Given the description of an element on the screen output the (x, y) to click on. 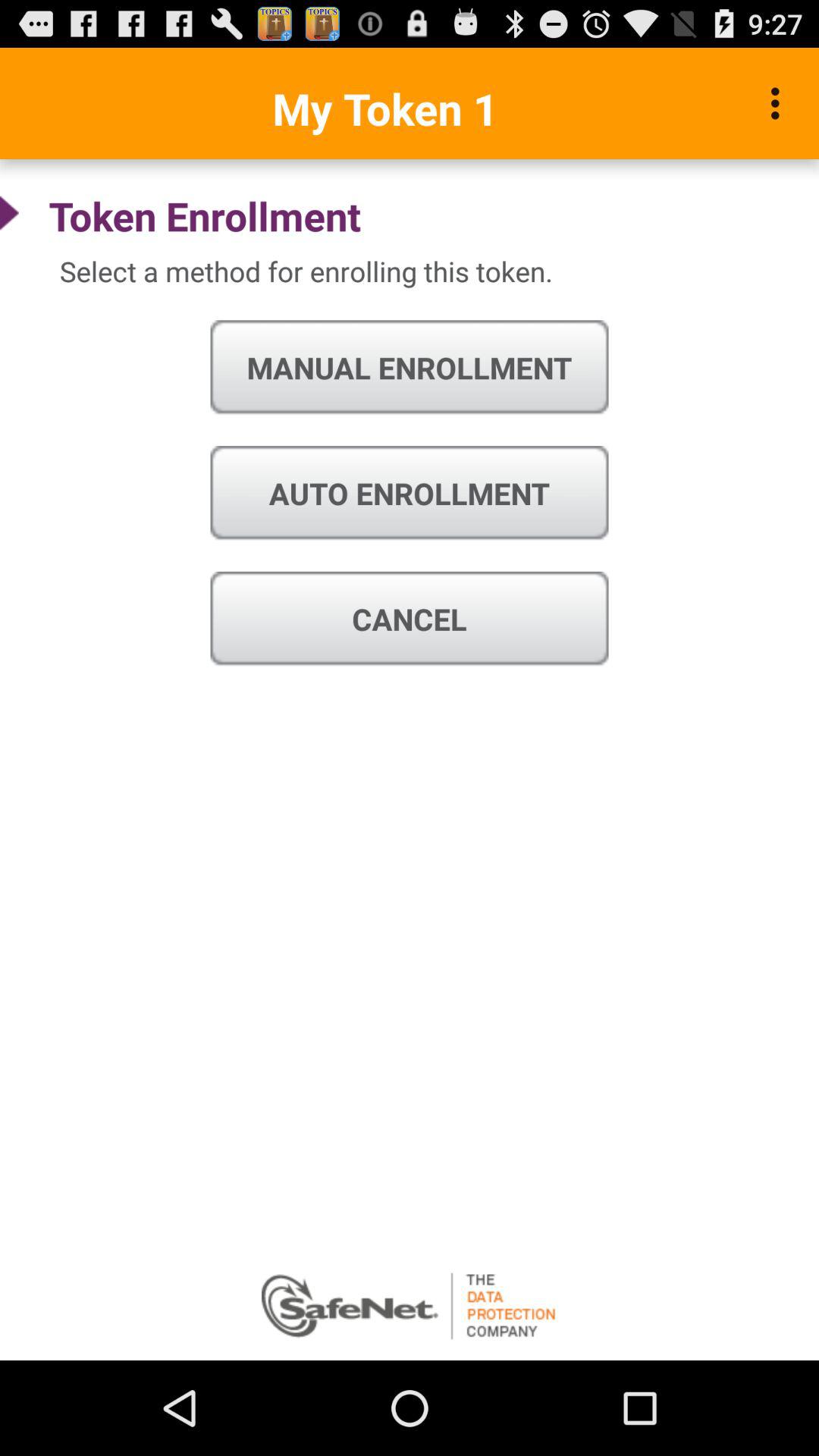
select icon below select a method item (409, 367)
